Given the description of an element on the screen output the (x, y) to click on. 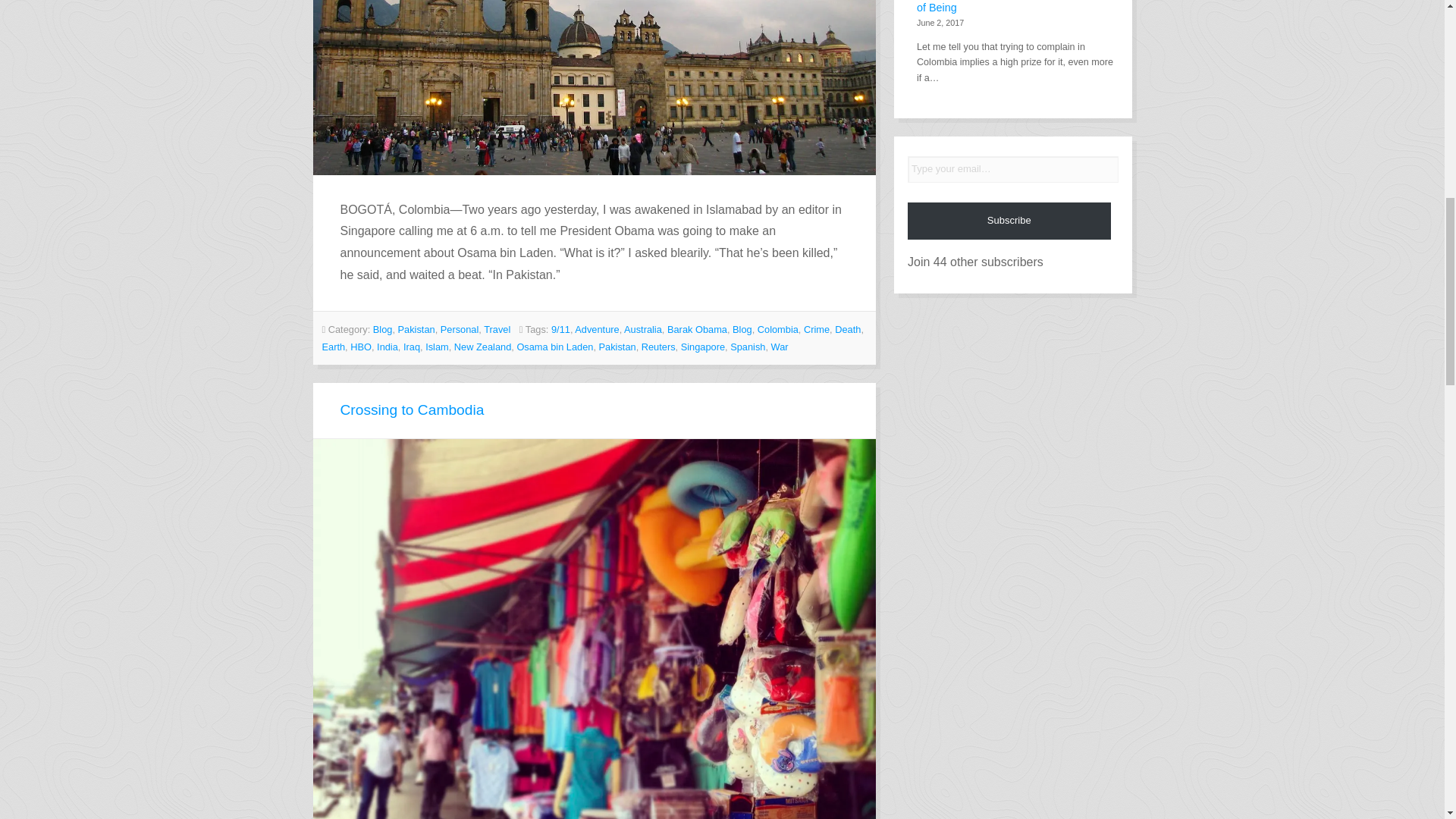
Permalink to One Year After Pakistan (594, 87)
Please fill in this field. (1012, 169)
Crossing to Cambodia (411, 409)
